Given the description of an element on the screen output the (x, y) to click on. 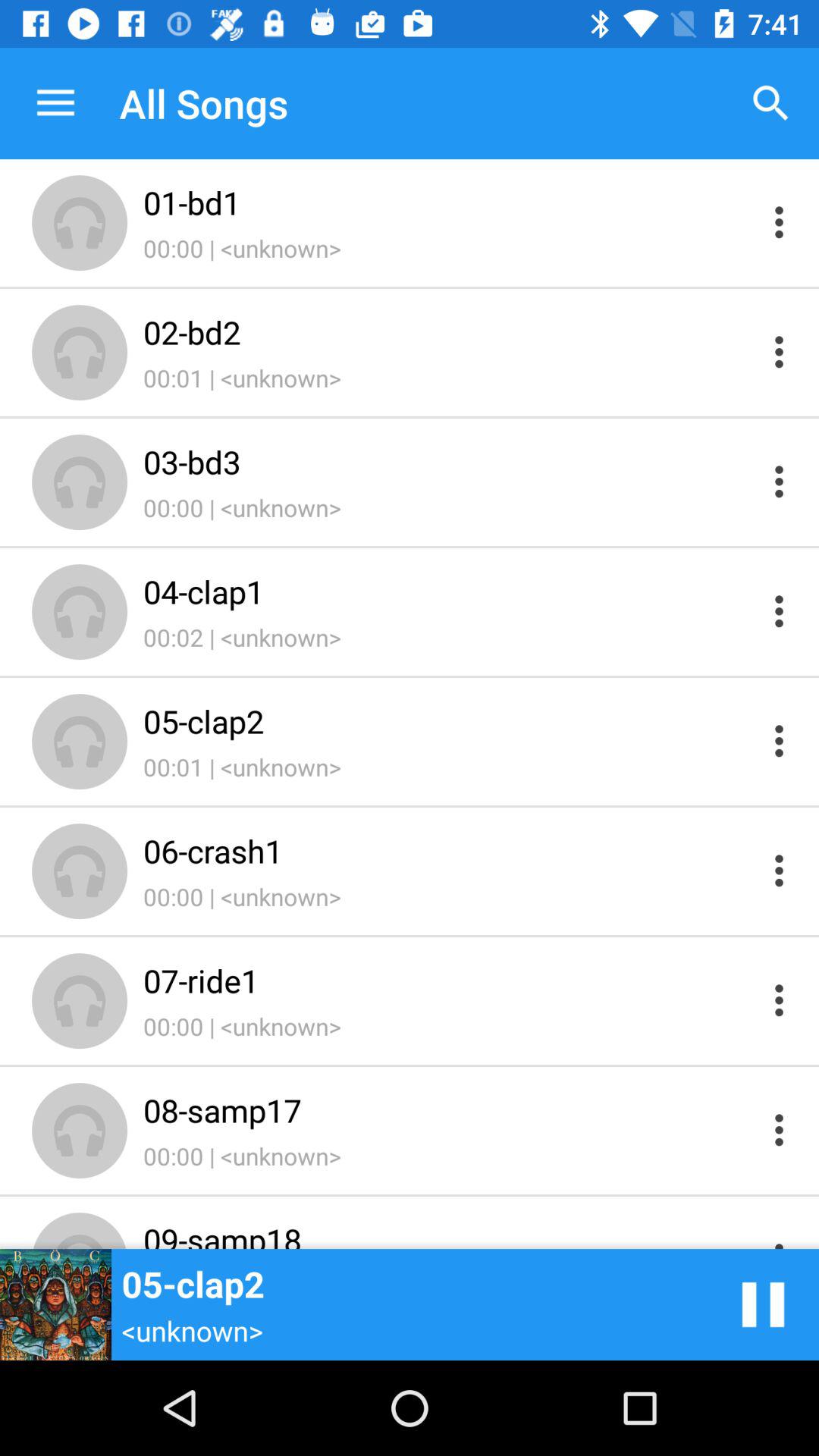
show options (779, 1129)
